Given the description of an element on the screen output the (x, y) to click on. 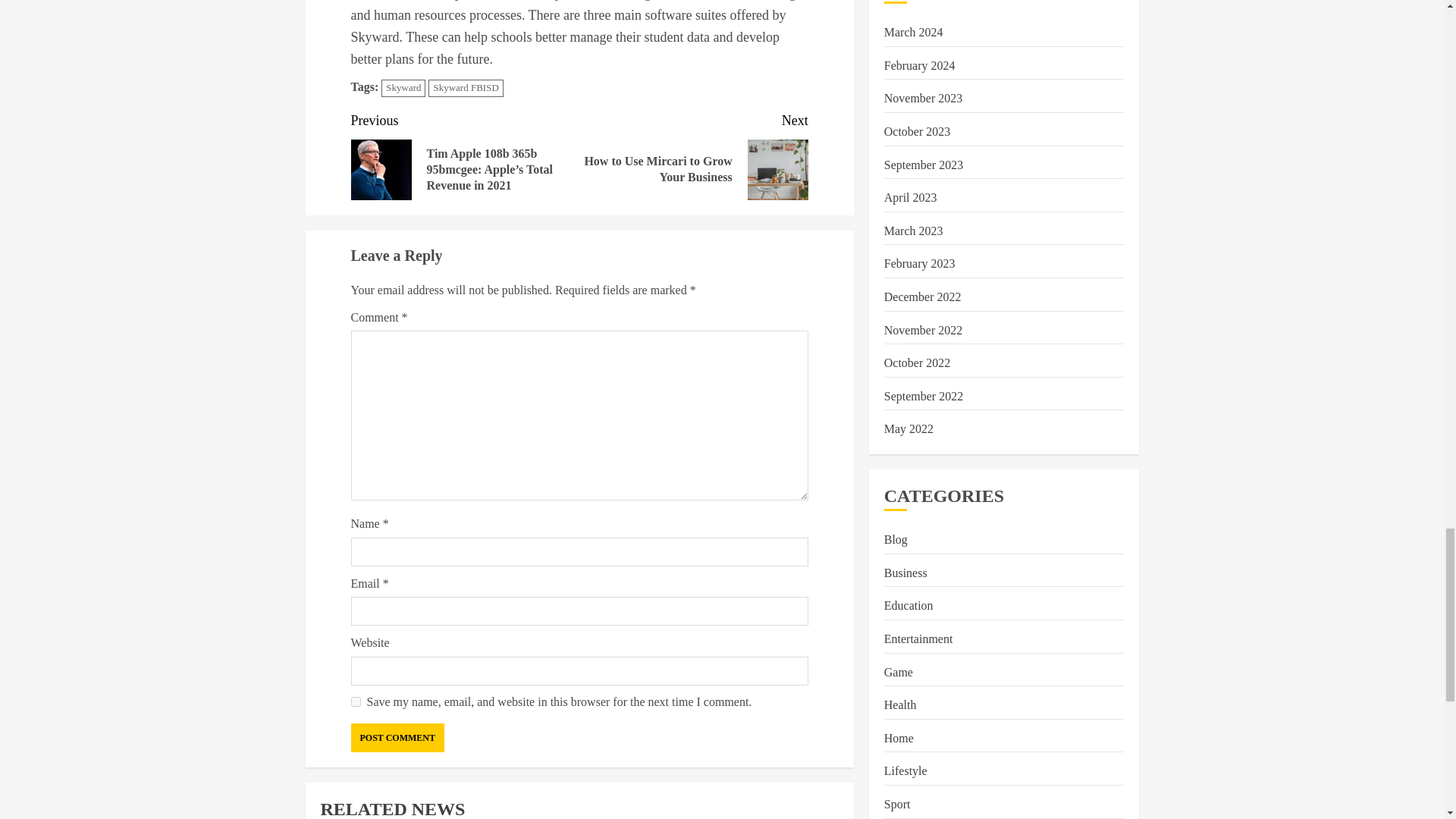
Post Comment (397, 737)
yes (354, 701)
Post Comment (397, 737)
Skyward (403, 88)
Skyward FBISD (693, 154)
